Given the description of an element on the screen output the (x, y) to click on. 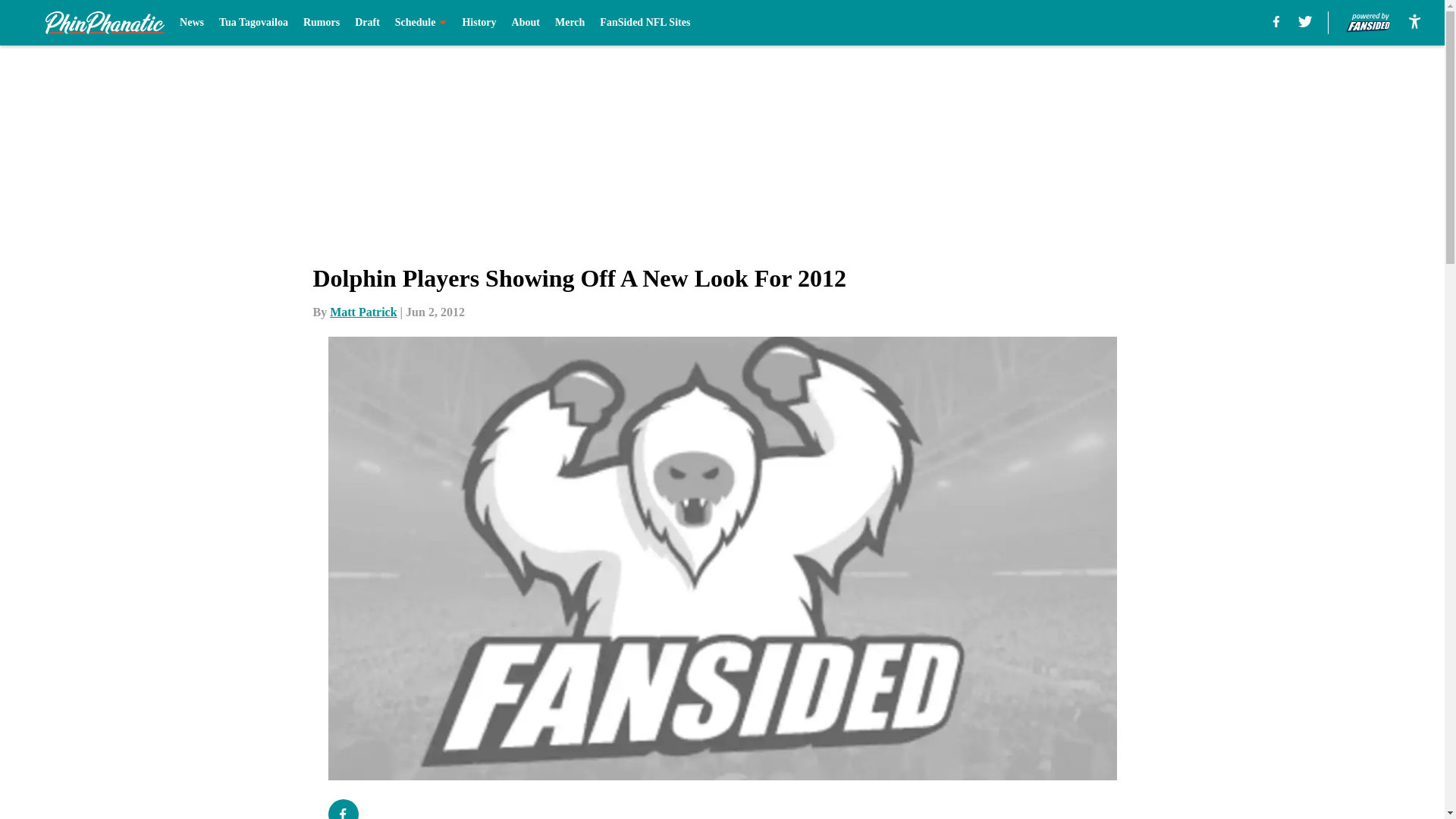
Matt Patrick (363, 311)
About (526, 22)
Draft (367, 22)
Merch (569, 22)
News (191, 22)
History (478, 22)
Rumors (320, 22)
FanSided NFL Sites (644, 22)
Tua Tagovailoa (253, 22)
